Given the description of an element on the screen output the (x, y) to click on. 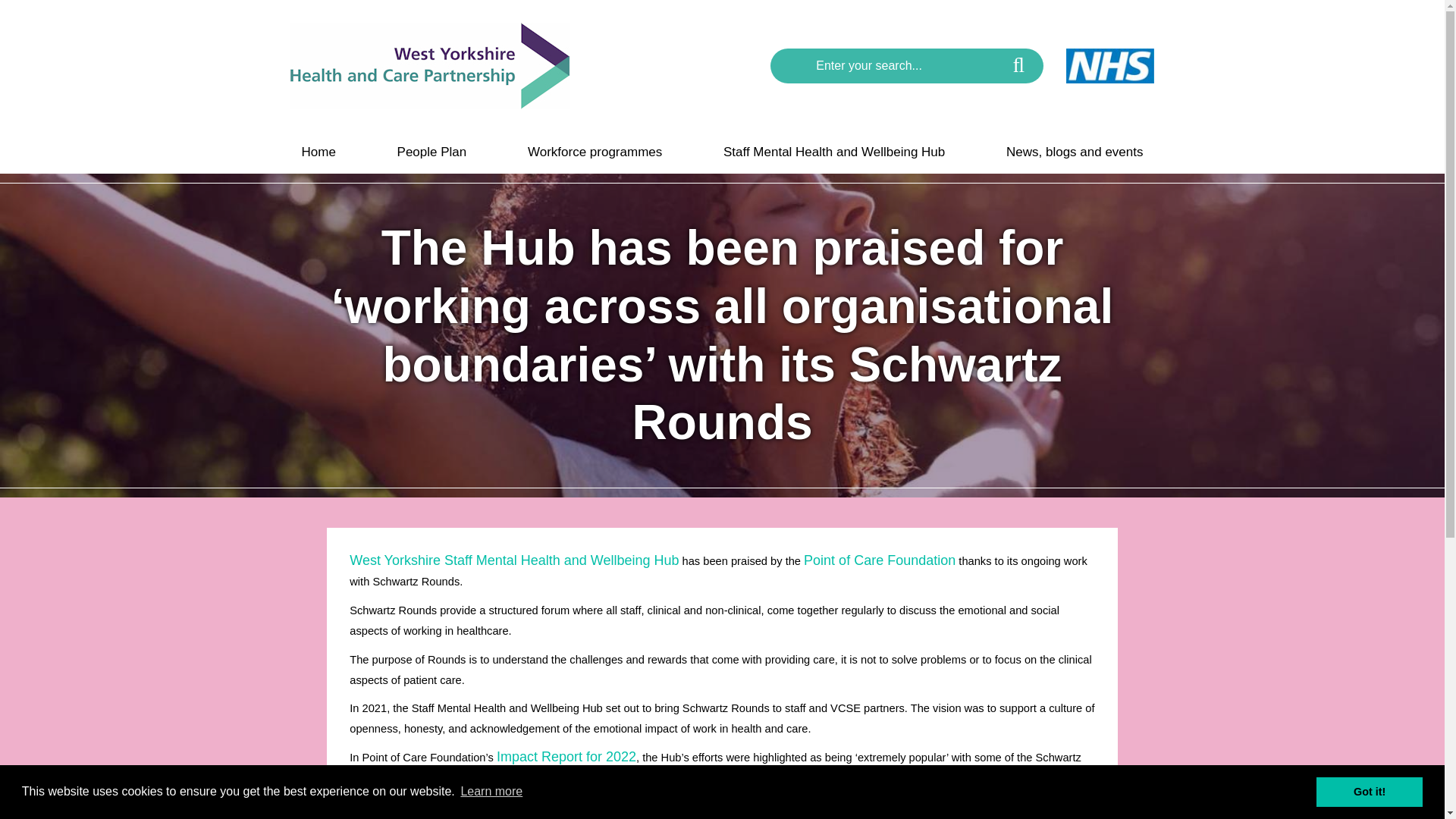
People Plan (432, 151)
Workforce programmes (594, 151)
Learn more (491, 791)
Got it! (1369, 791)
Home (317, 151)
Staff Mental Health and Wellbeing Hub (833, 151)
